Given the description of an element on the screen output the (x, y) to click on. 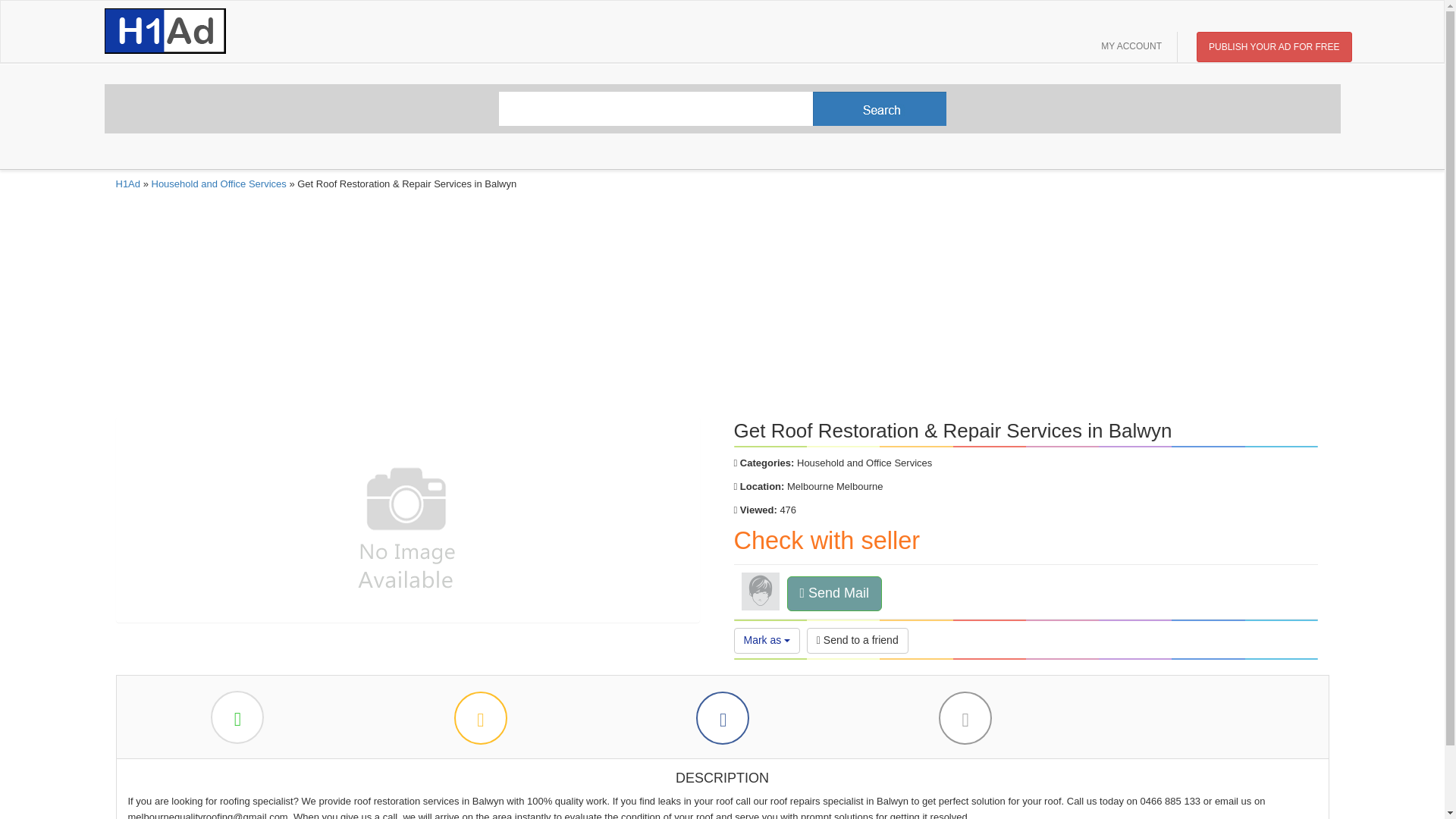
More information (479, 717)
Warning (964, 717)
Household and Office Services (218, 183)
Send Mail (834, 593)
PUBLISH YOUR AD FOR FREE (1273, 46)
Description (237, 717)
MY ACCOUNT (1131, 46)
Send to a friend (857, 640)
Search (722, 108)
